Given the description of an element on the screen output the (x, y) to click on. 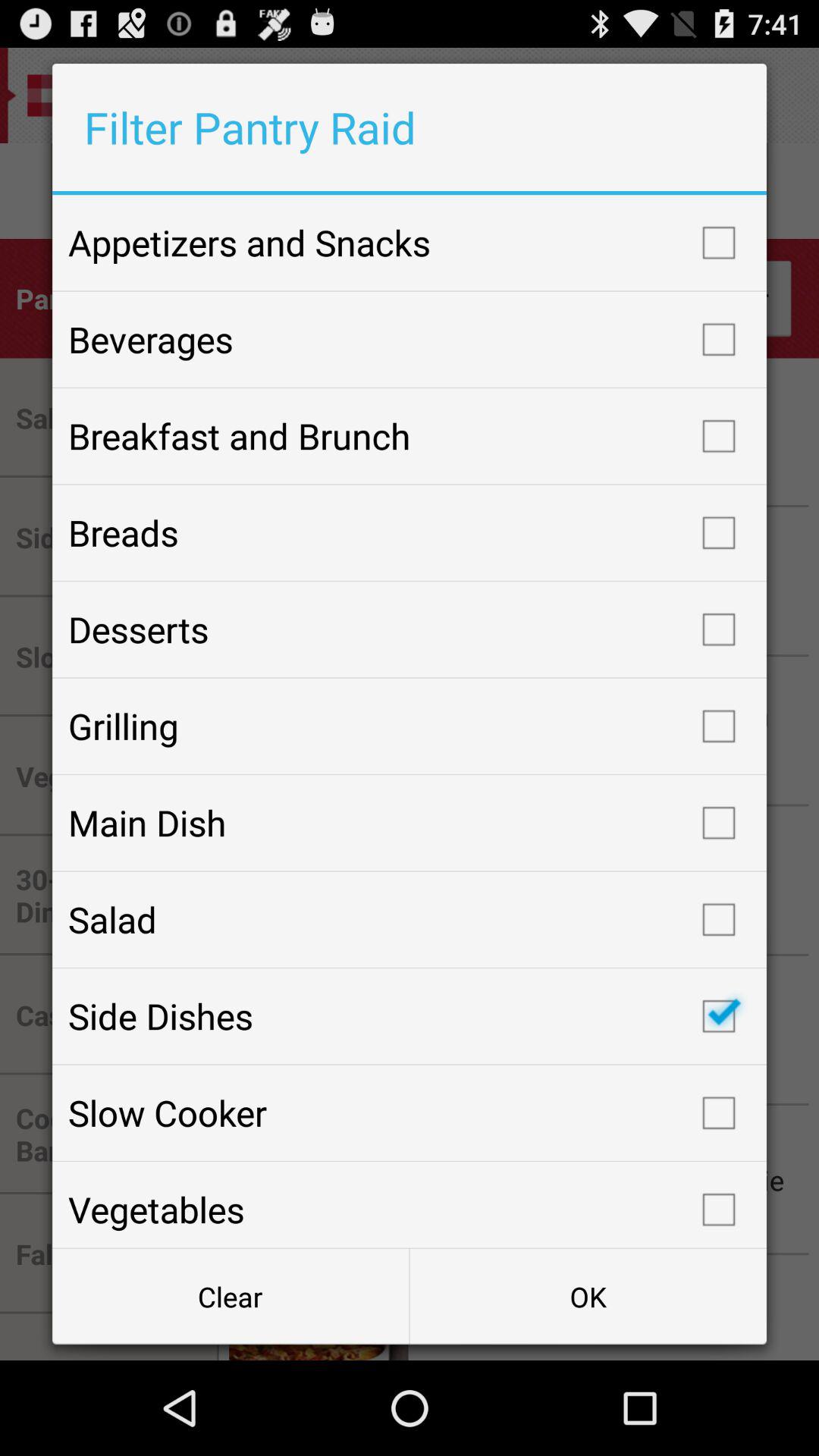
turn off item below salad (409, 1016)
